Given the description of an element on the screen output the (x, y) to click on. 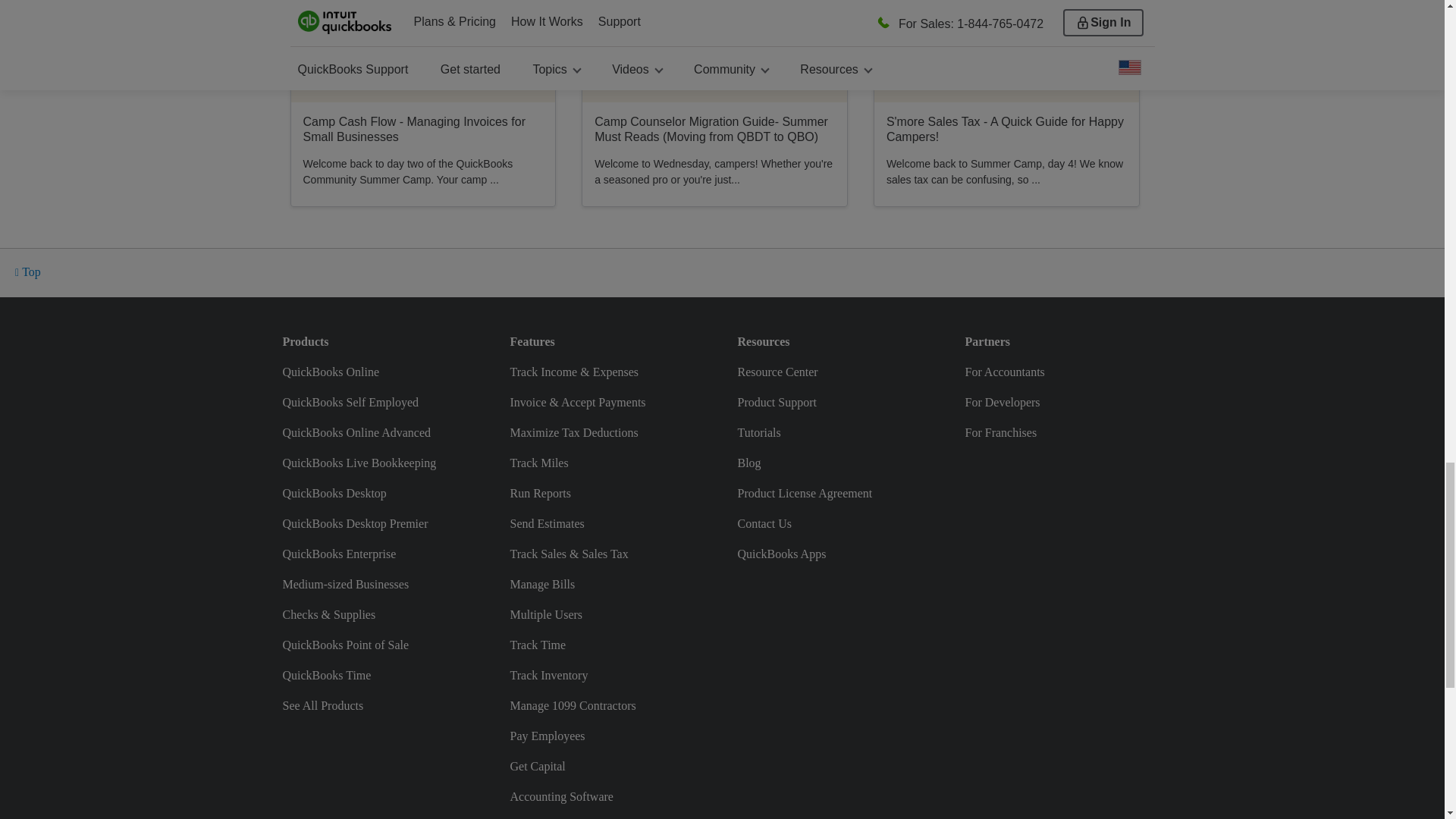
Top (28, 272)
Top (28, 272)
